Given the description of an element on the screen output the (x, y) to click on. 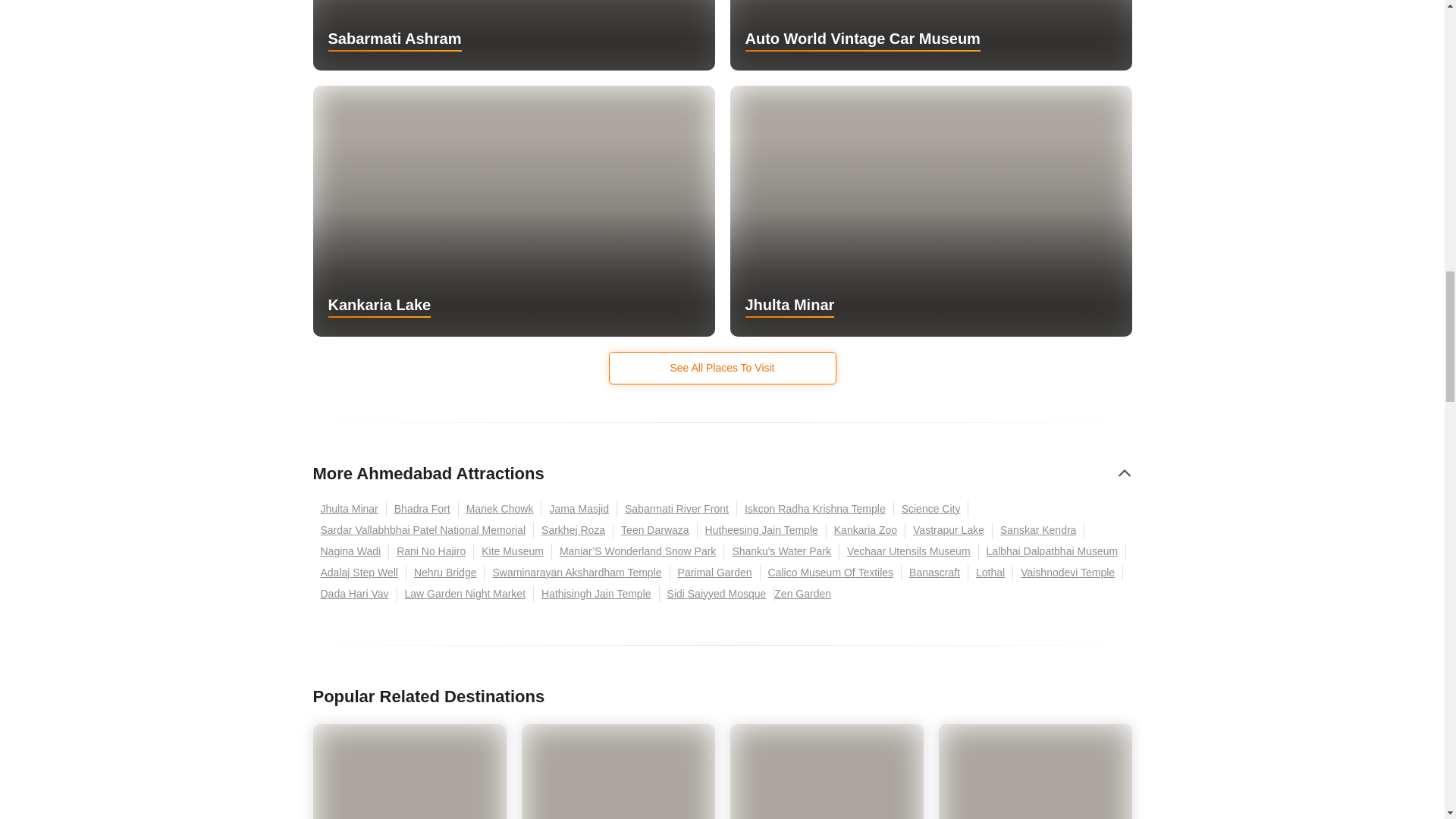
Kankaria Lake (513, 210)
Iskcon Radha Krishna Temple (814, 508)
Lalbhai Dalpatbhai Museum (1052, 551)
Auto World Vintage Car Museum (930, 34)
Adalaj Step Well (359, 572)
Manek Chowk (499, 508)
Nagina Wadi (350, 551)
Vastrapur Lake (948, 530)
Sabarmati River Front (676, 508)
Sardar Vallabhbhai Patel National Memorial (423, 530)
